Given the description of an element on the screen output the (x, y) to click on. 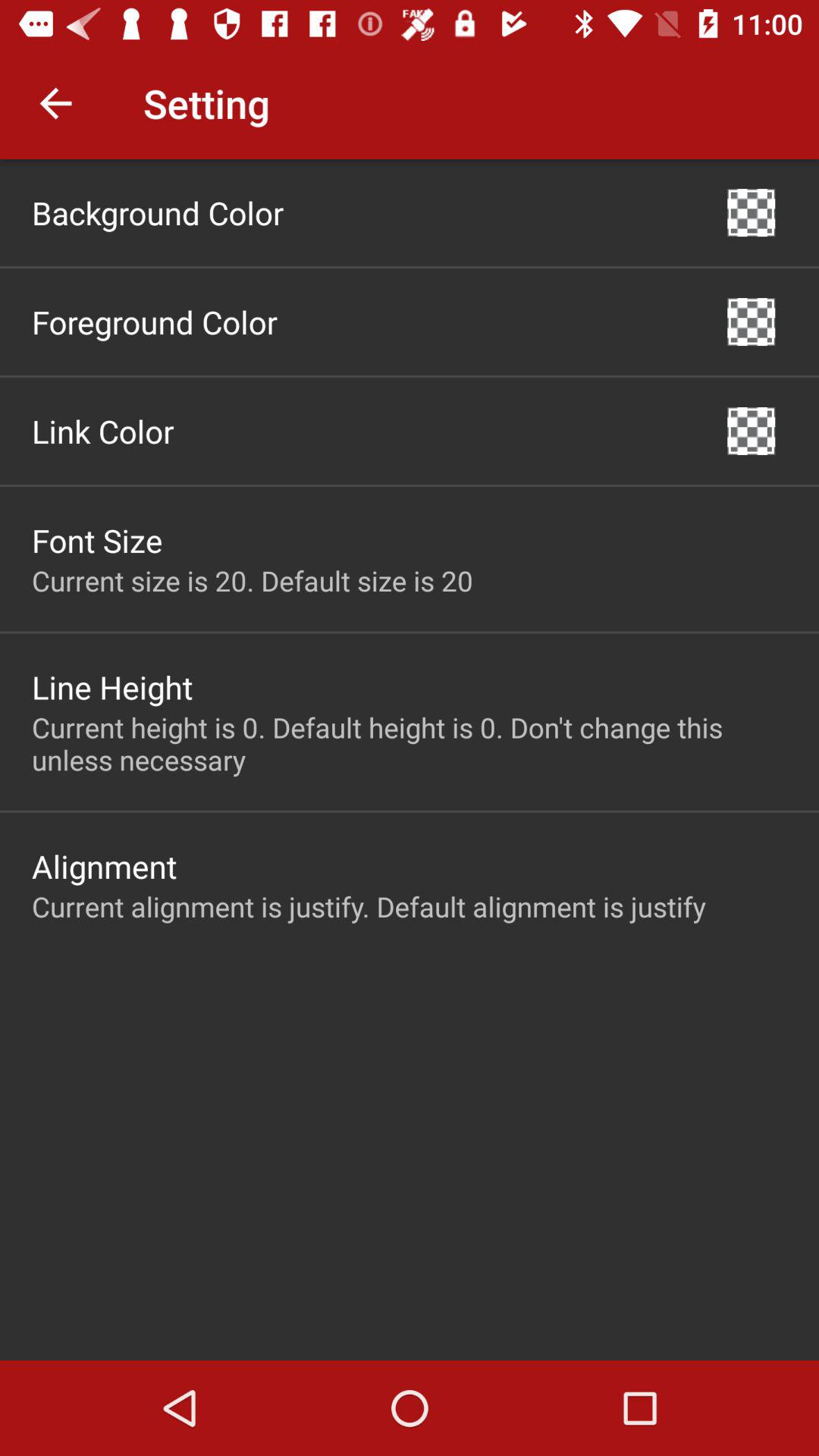
choose the item next to the link color (751, 431)
